Given the description of an element on the screen output the (x, y) to click on. 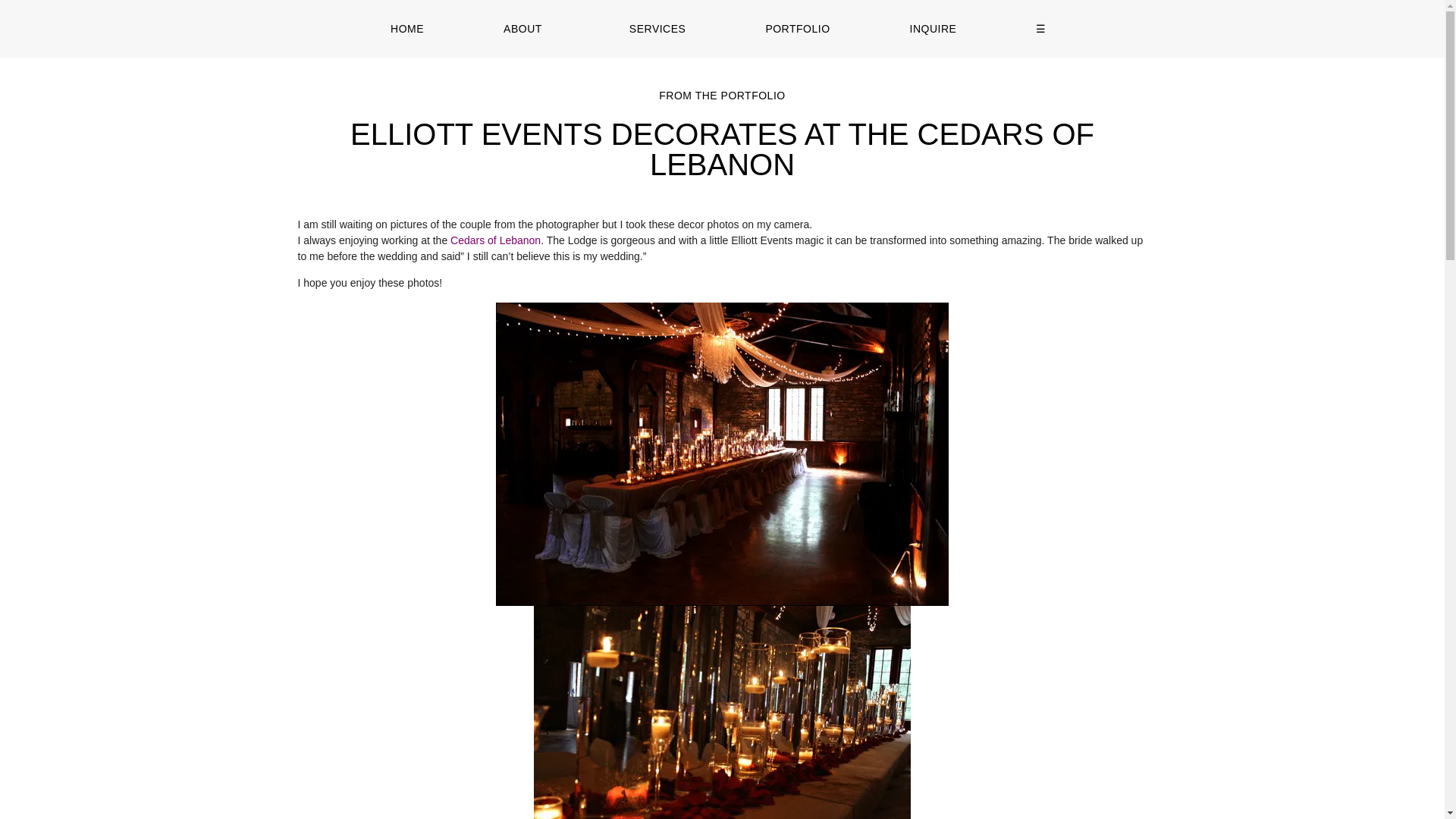
HOME (406, 28)
ABOUT (526, 28)
PORTFOLIO (797, 28)
INQUIRE (933, 28)
SERVICES (657, 28)
